Given the description of an element on the screen output the (x, y) to click on. 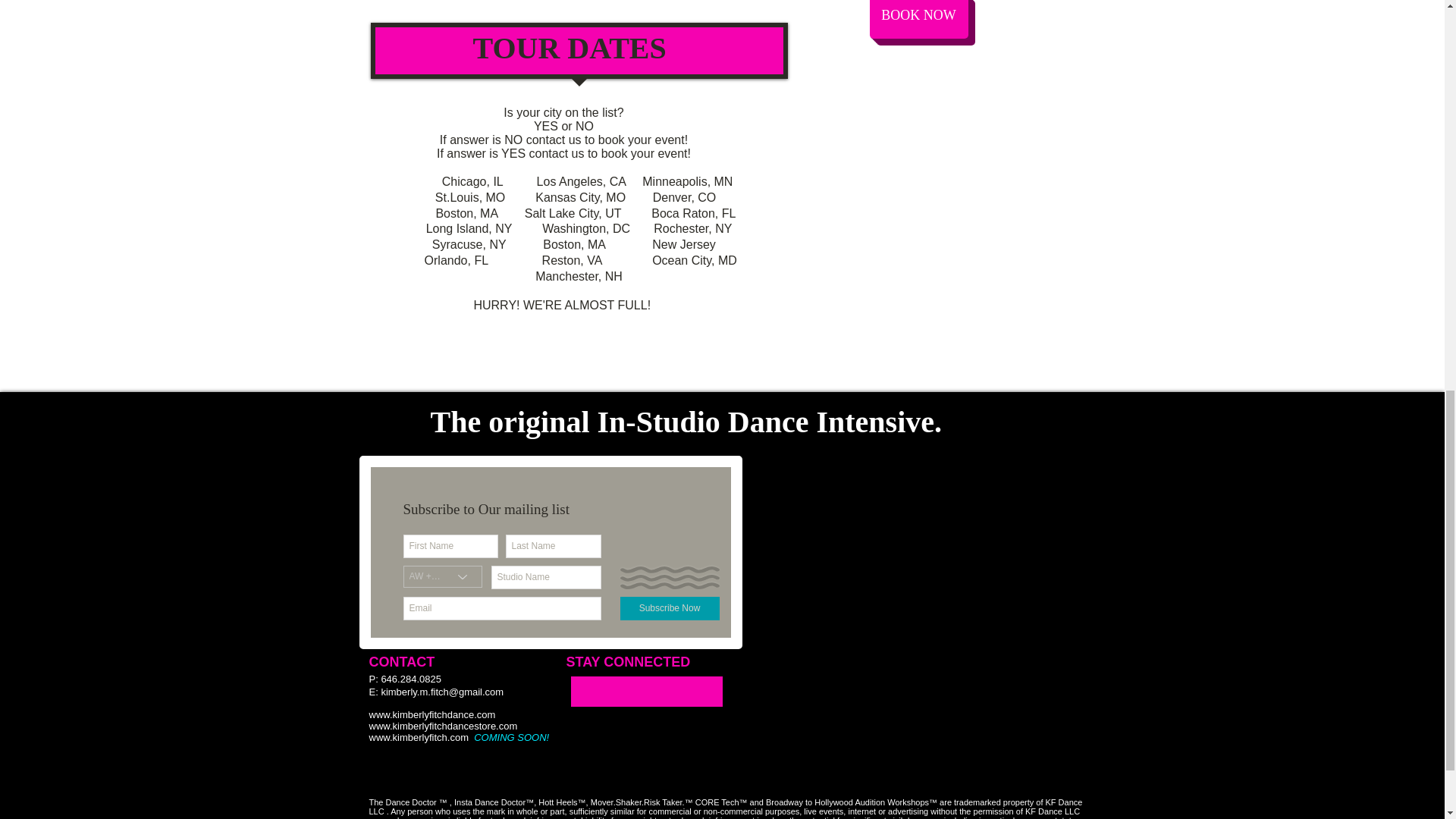
BOOK NOW (918, 19)
Subscribe Now (669, 608)
www.kimberlyfitch.com (417, 737)
www.kimberlyfitchdancestore.com (442, 726)
www.kimberlyfitchdance.com (431, 714)
